Given the description of an element on the screen output the (x, y) to click on. 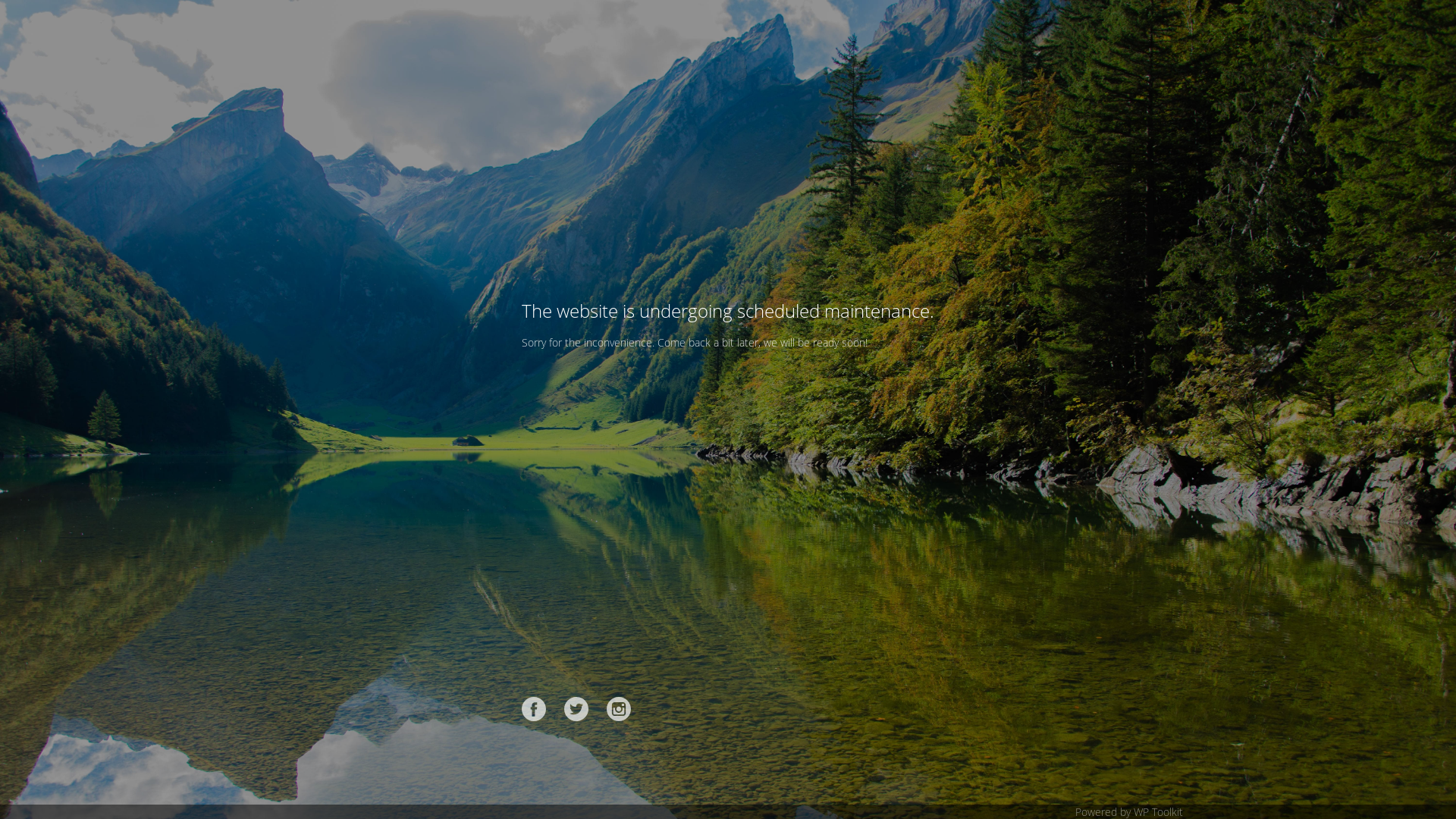
Facebook Element type: hover (533, 708)
Instagram Element type: hover (618, 708)
Twitter Element type: hover (576, 708)
